Given the description of an element on the screen output the (x, y) to click on. 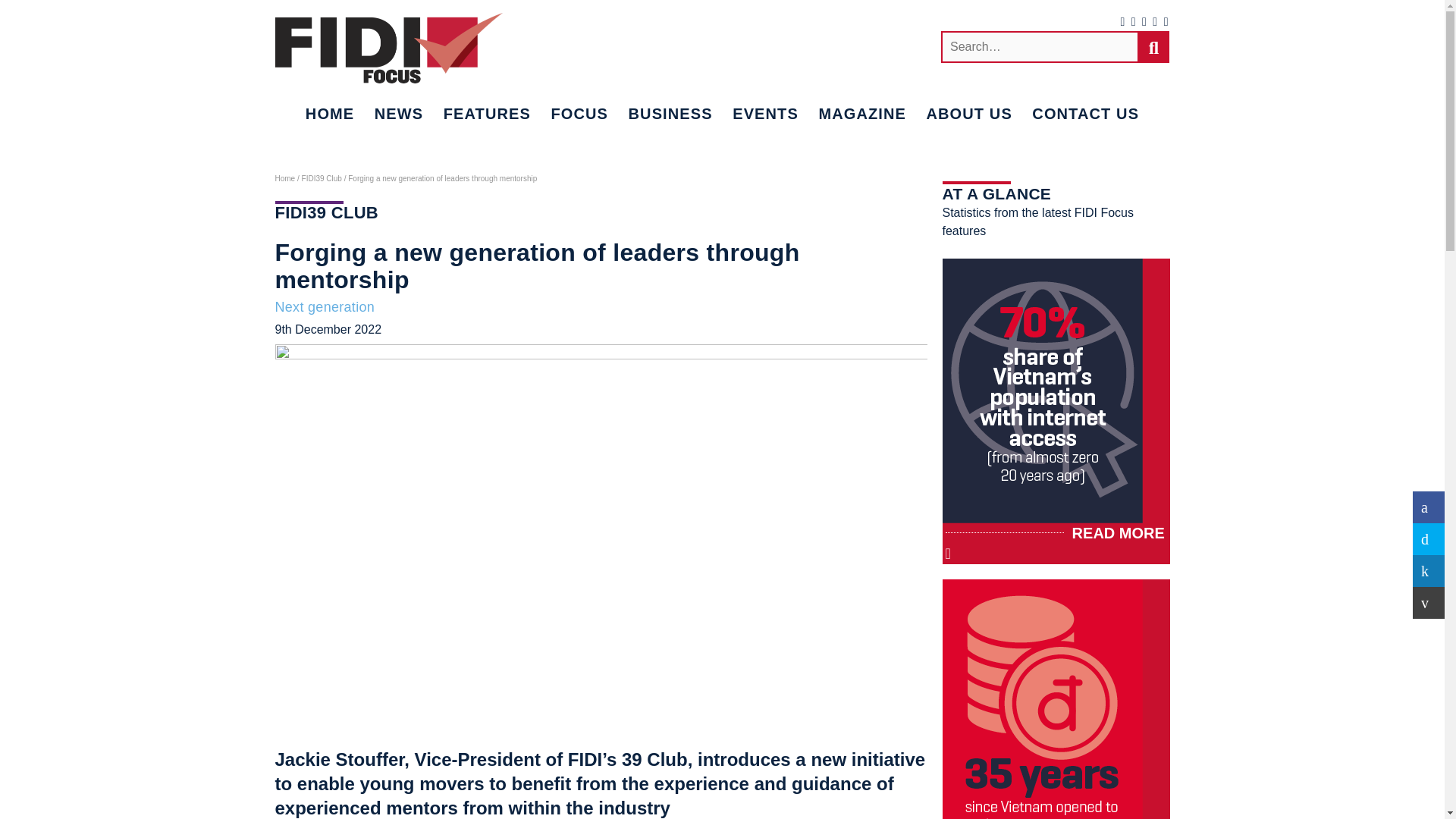
NEWS (398, 113)
MAGAZINE (861, 113)
ABOUT US (968, 113)
FEATURES (487, 113)
FOCUS (579, 113)
HOME (329, 113)
BUSINESS (669, 113)
EVENTS (764, 113)
CONTACT US (1085, 113)
Home (285, 178)
